Given the description of an element on the screen output the (x, y) to click on. 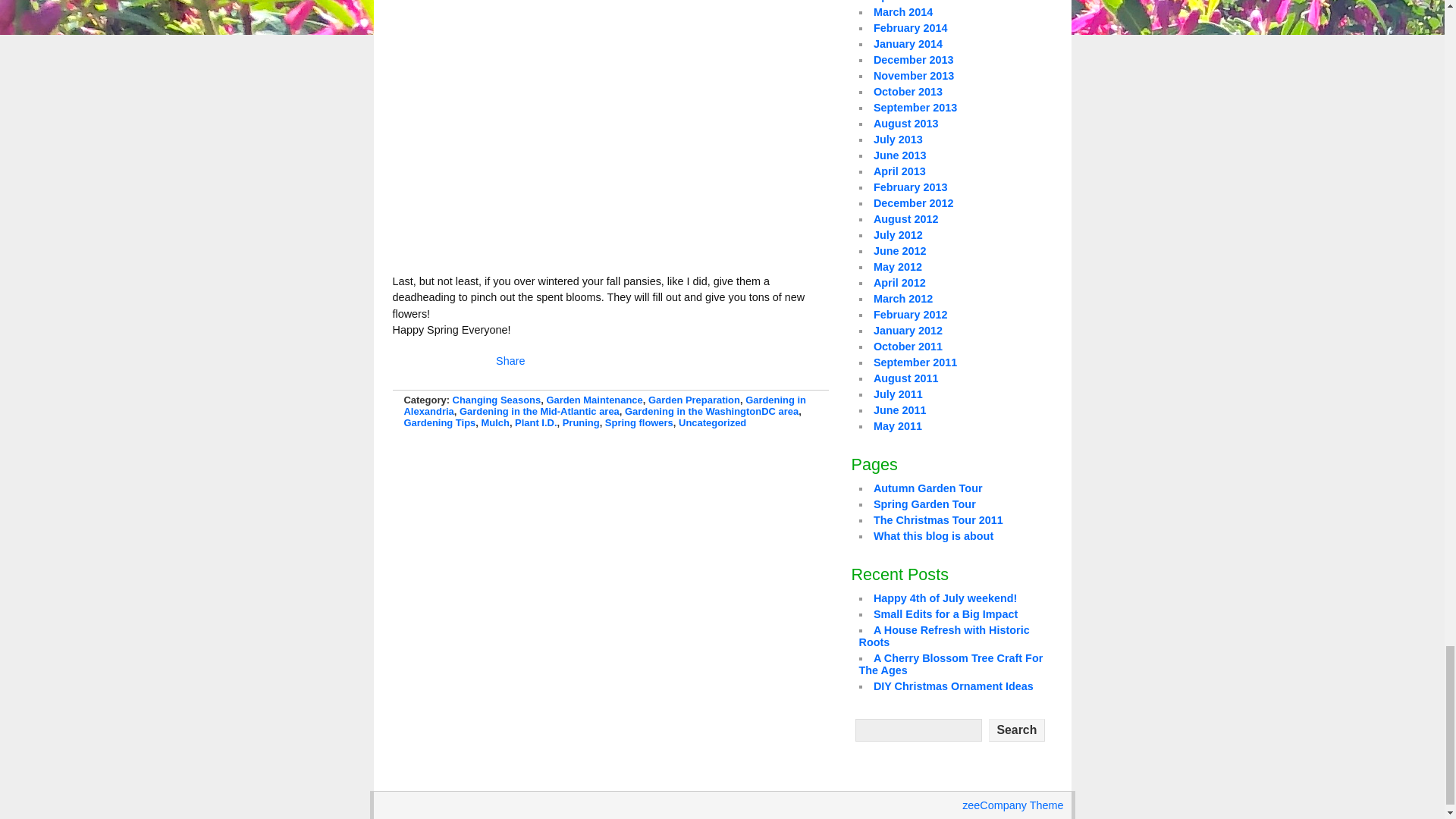
Gardening in Alexandria (604, 404)
Garden Maintenance (594, 399)
Plant I.D. (535, 422)
Uncategorized (711, 422)
Share (510, 361)
Search (1016, 730)
Garden Preparation (693, 399)
Mulch (494, 422)
Spring flowers (638, 422)
Gardening in the Mid-Atlantic area (540, 410)
